Given the description of an element on the screen output the (x, y) to click on. 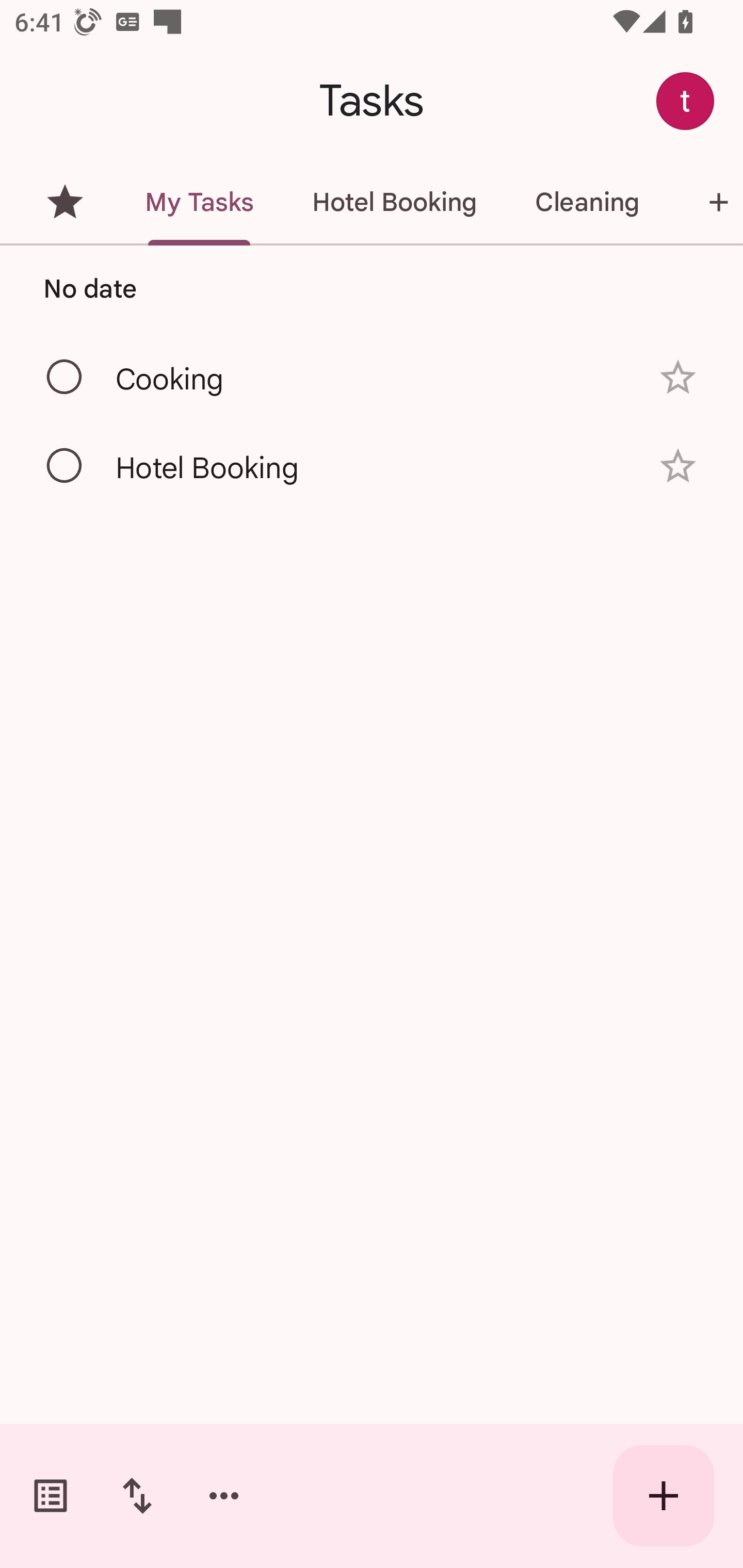
Starred (64, 202)
Hotel Booking (394, 202)
Cleaning (586, 202)
New list (705, 202)
Cooking Cooking Add star Mark as complete (371, 376)
Add star (677, 376)
Mark as complete (64, 377)
Add star (677, 466)
Mark as complete (64, 466)
Switch task lists (50, 1495)
Create new task (663, 1495)
Change sort order (136, 1495)
More options (223, 1495)
